Given the description of an element on the screen output the (x, y) to click on. 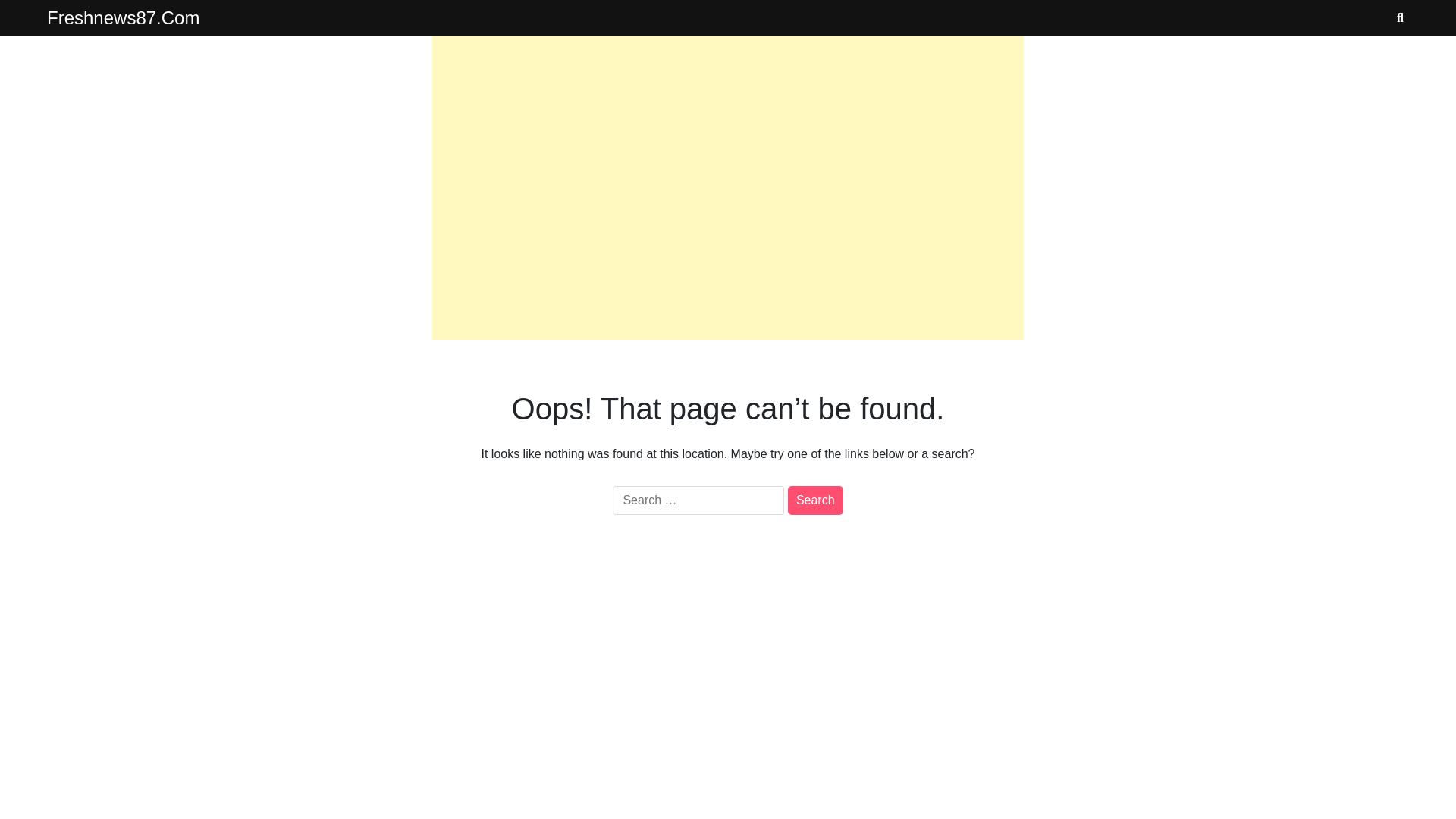
Search (815, 500)
Freshnews87.Com (122, 17)
Search (815, 500)
Search (815, 500)
